Given the description of an element on the screen output the (x, y) to click on. 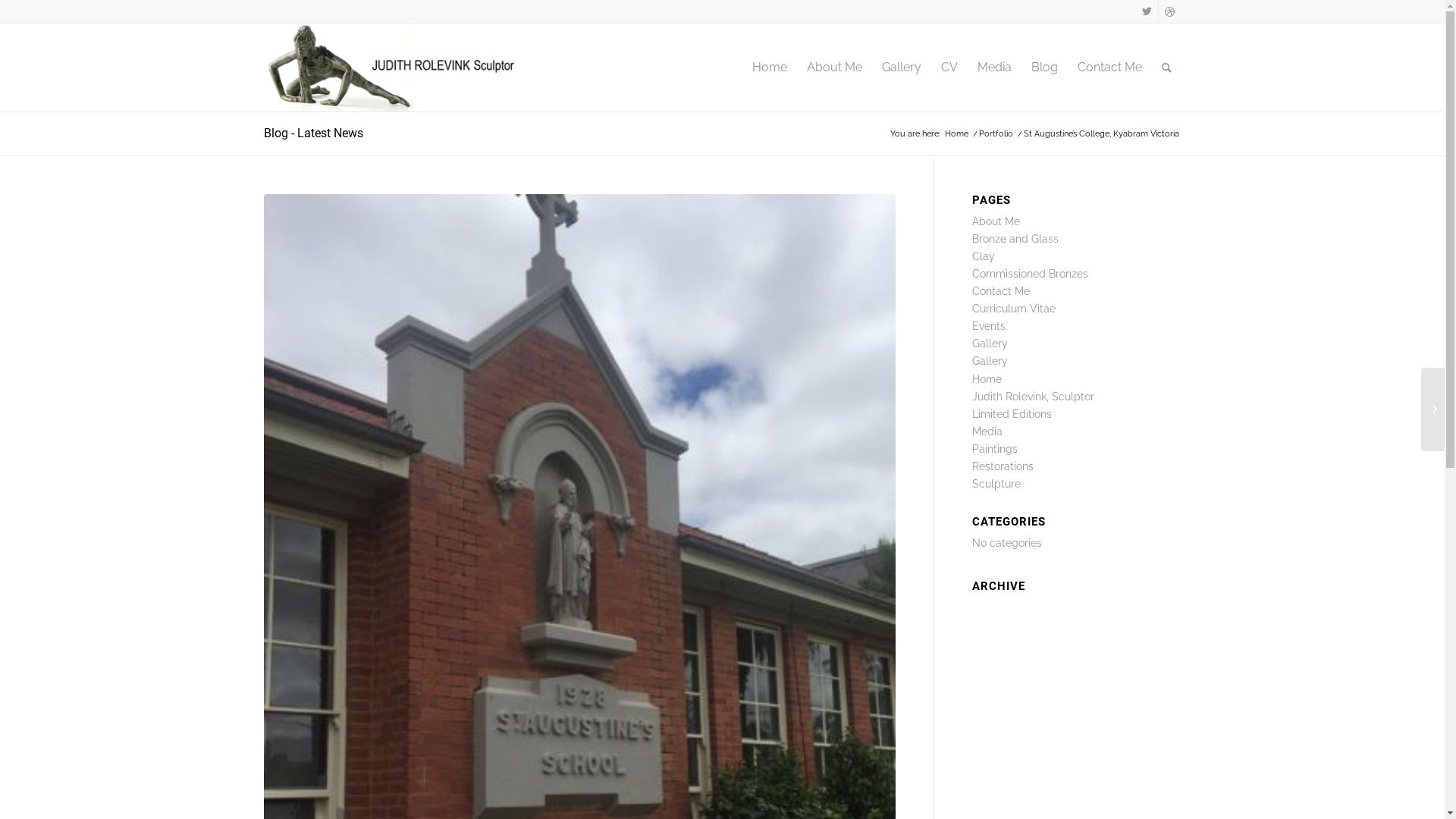
Home Element type: text (768, 67)
CV Element type: text (949, 67)
Paintings Element type: text (994, 448)
Gallery Element type: text (989, 343)
Dribbble Element type: hover (1169, 11)
Limited Editions Element type: text (1011, 413)
Blog Element type: text (1043, 67)
Events Element type: text (988, 326)
Gallery Element type: text (901, 67)
Clay Element type: text (983, 256)
Home Element type: text (955, 133)
About Me Element type: text (995, 221)
Blog - Latest News Element type: text (313, 132)
Bronze and Glass Element type: text (1015, 238)
Gallery Element type: text (989, 360)
Contact Me Element type: text (1109, 67)
Media Element type: text (987, 431)
Media Element type: text (994, 67)
About Me Element type: text (833, 67)
Home Element type: text (986, 379)
Twitter Element type: hover (1146, 11)
Sculpture Element type: text (996, 483)
Restorations Element type: text (1002, 466)
Curriculum Vitae Element type: text (1013, 308)
Commissioned Bronzes Element type: text (1030, 273)
Judith Rolevink, Sculptor Element type: text (1033, 396)
Portfolio Element type: text (995, 133)
Contact Me Element type: text (1000, 291)
